Given the description of an element on the screen output the (x, y) to click on. 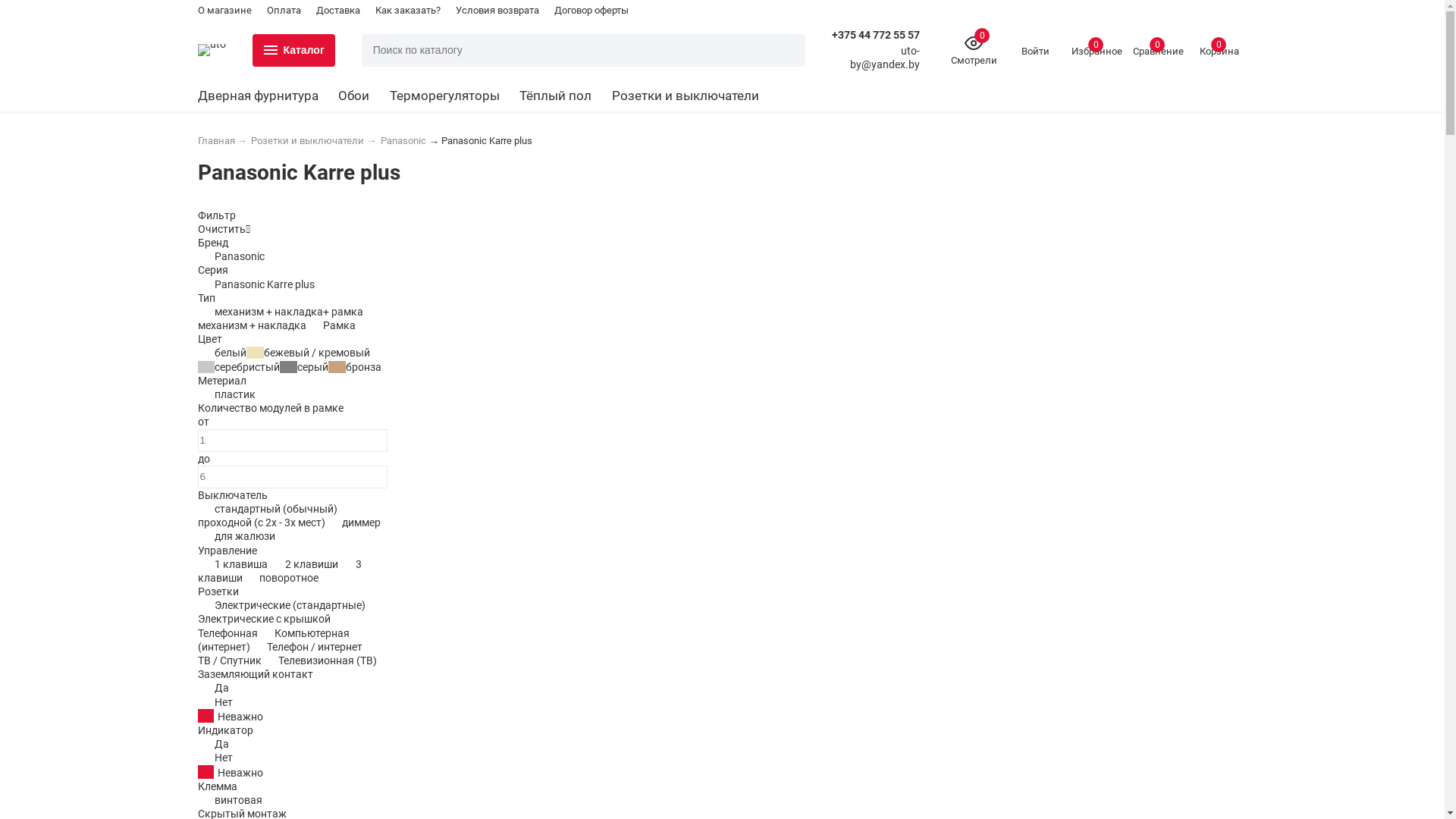
Panasonic Element type: text (403, 140)
+375 44 772 55 57 Element type: text (875, 34)
